Given the description of an element on the screen output the (x, y) to click on. 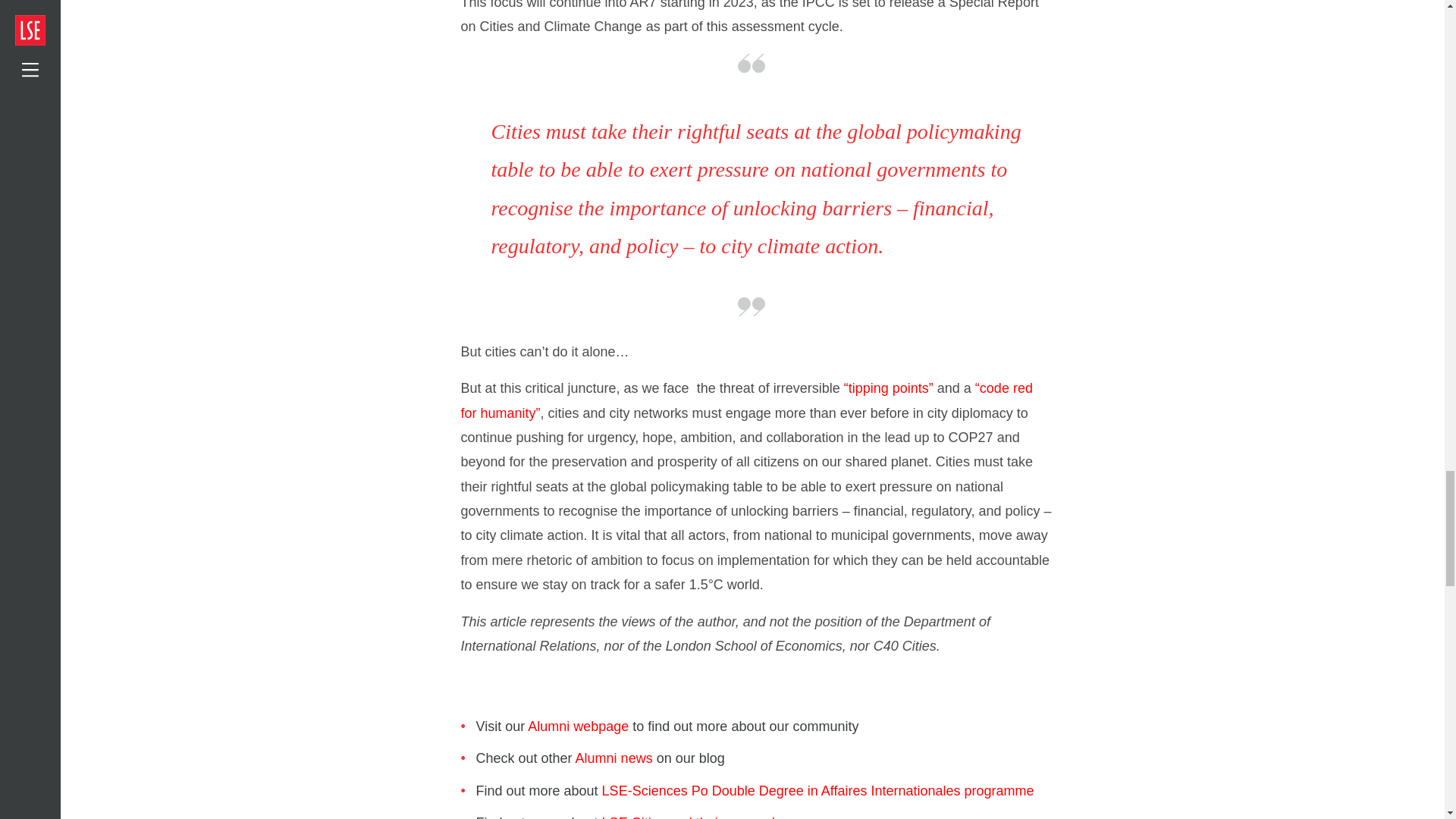
Alumni news (613, 758)
Alumni webpage (577, 726)
LSE Cities and their research (690, 816)
